Given the description of an element on the screen output the (x, y) to click on. 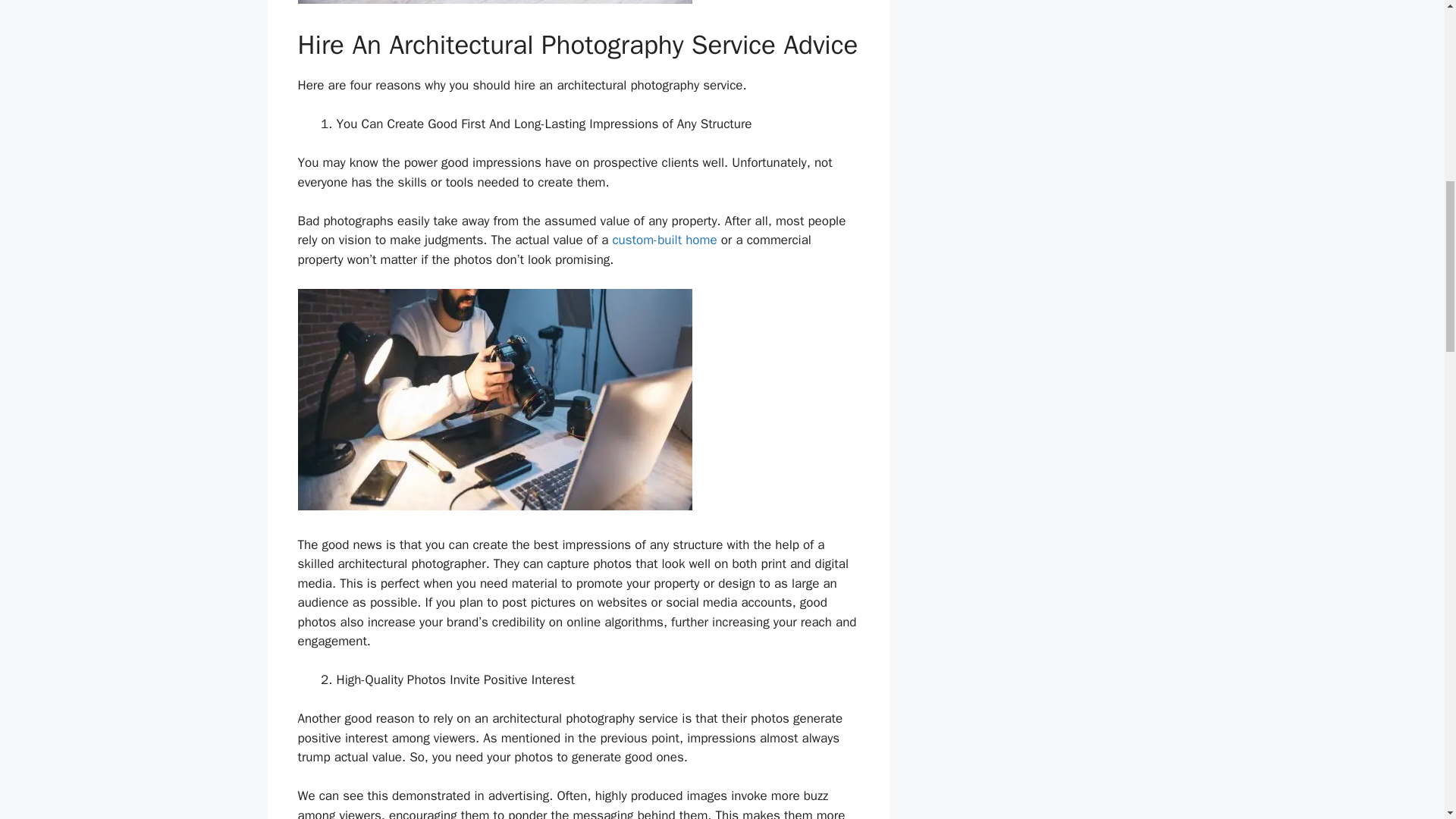
custom-built home (663, 239)
Scroll back to top (1406, 720)
